Given the description of an element on the screen output the (x, y) to click on. 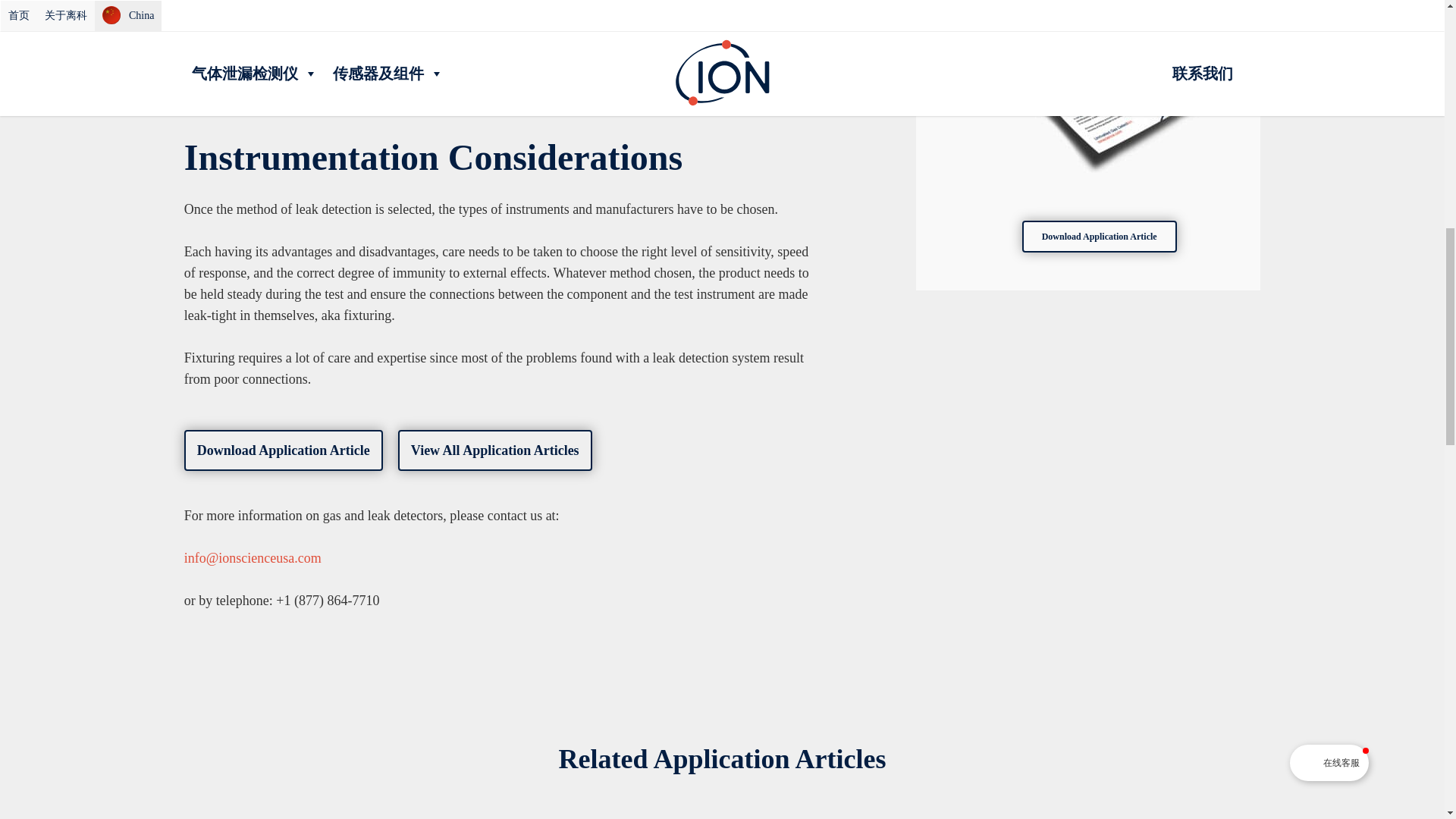
Download Application Article (283, 449)
